Given the description of an element on the screen output the (x, y) to click on. 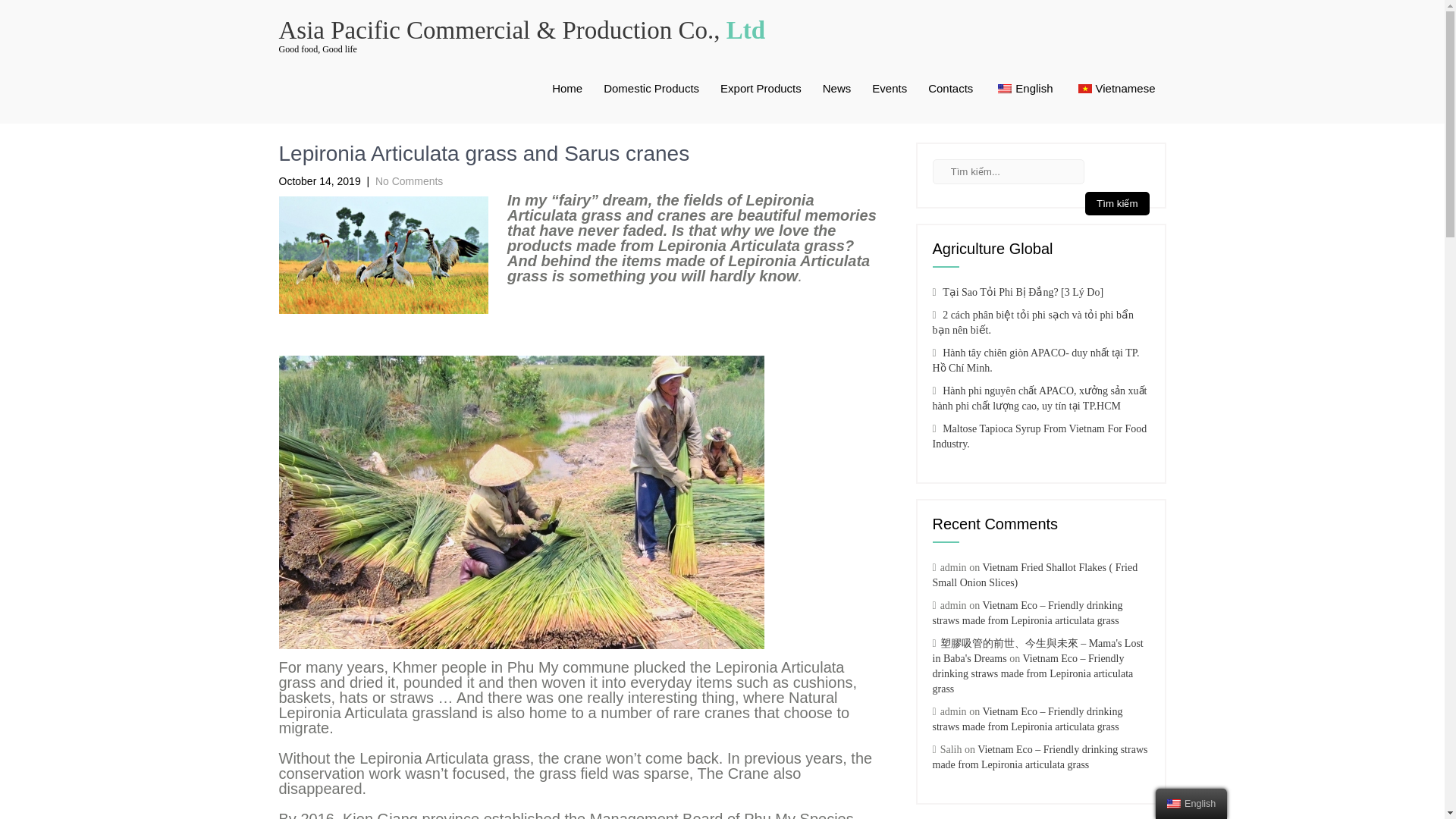
Domestic Products (651, 89)
Vietnamese (1085, 88)
Contacts (950, 89)
English (1004, 88)
Vietnamese (1115, 89)
English (1023, 89)
Export Products (761, 89)
English (1173, 803)
No Comments (408, 181)
